Given the description of an element on the screen output the (x, y) to click on. 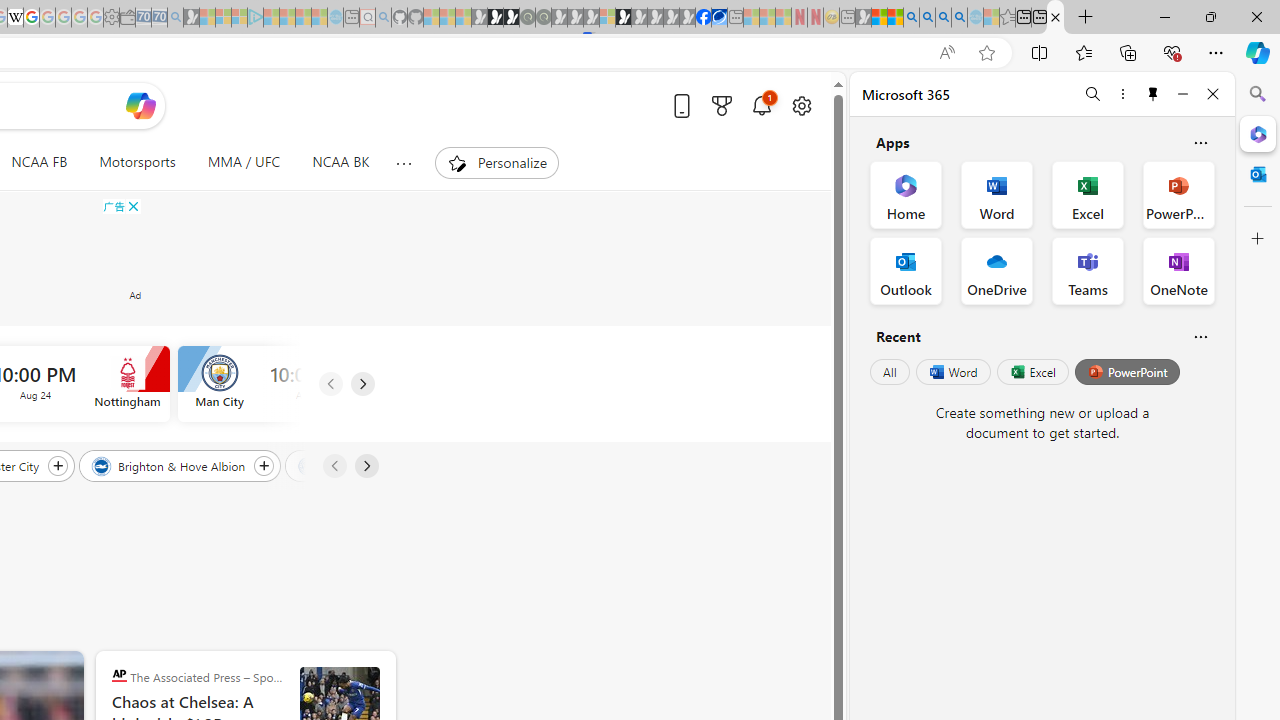
Excel Office App (1087, 194)
Brighton & Hove Albion (170, 465)
Teams Office App (1087, 270)
Previous (333, 465)
Sign in to your account - Sleeping (607, 17)
